Given the description of an element on the screen output the (x, y) to click on. 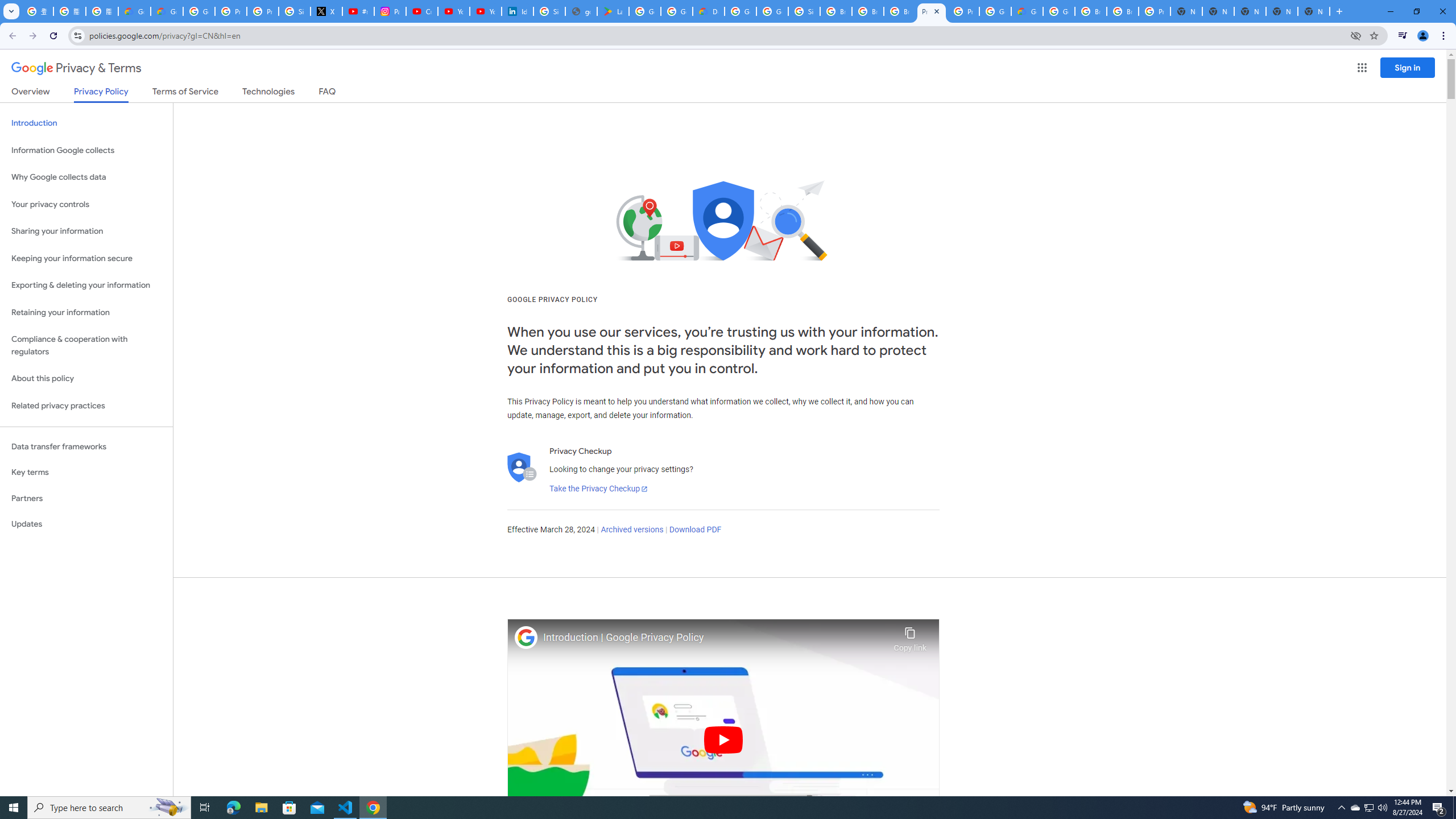
Sharing your information (86, 230)
Sign in - Google Accounts (549, 11)
Your privacy controls (86, 204)
Last Shelter: Survival - Apps on Google Play (613, 11)
Google Cloud Estimate Summary (1027, 11)
Take the Privacy Checkup (597, 488)
Sign in (1407, 67)
Key terms (86, 472)
Data transfer frameworks (86, 446)
Introduction | Google Privacy Policy (715, 637)
